Given the description of an element on the screen output the (x, y) to click on. 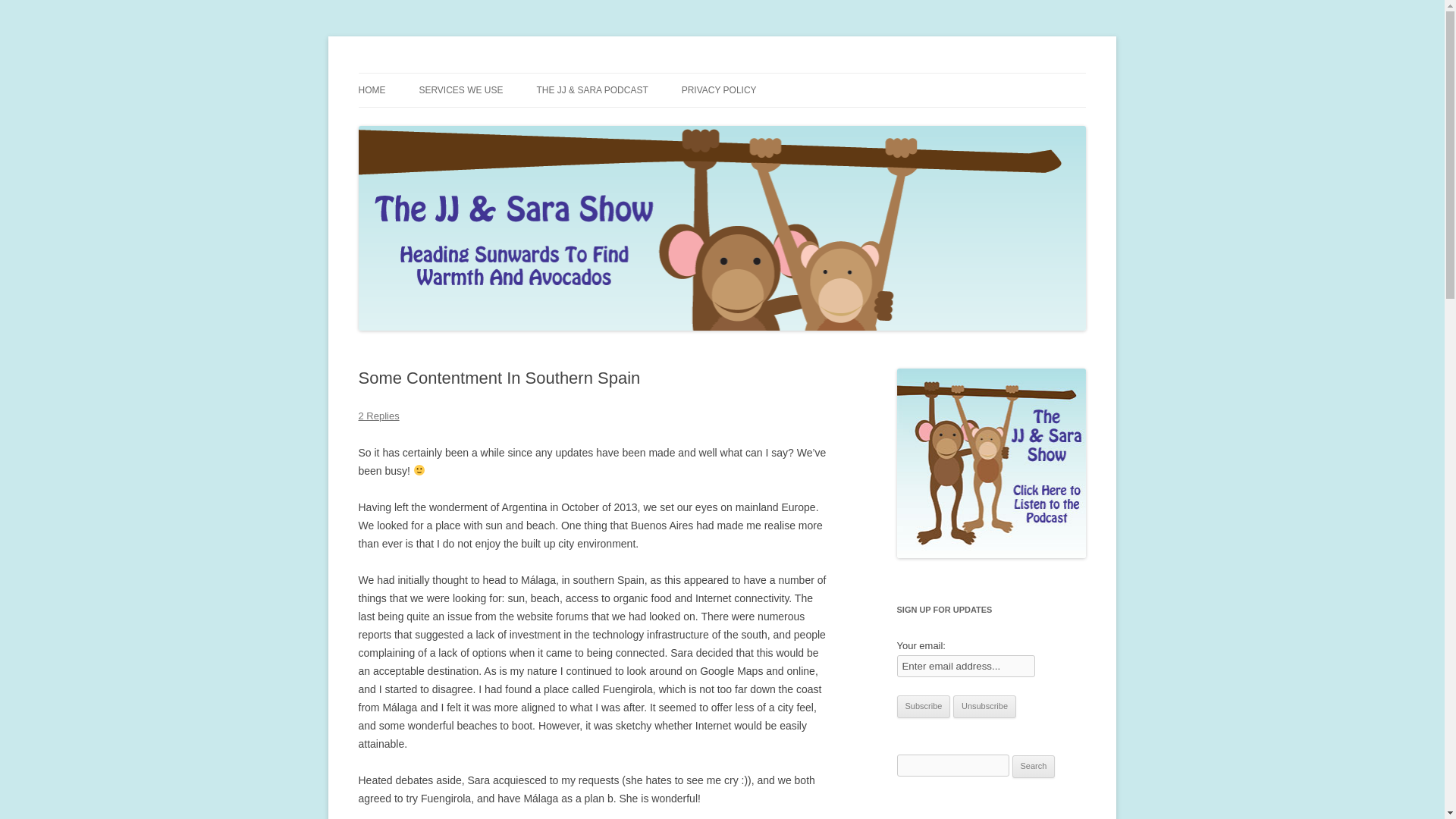
PRIVACY POLICY (719, 90)
Skip to content (757, 77)
Unsubscribe (984, 706)
Subscribe (923, 706)
Search (1033, 766)
Subscribe (923, 706)
2 Replies (378, 415)
Enter email address... (965, 666)
Skip to content (757, 77)
Search (1033, 766)
SERVICES WE USE (460, 90)
Unsubscribe (984, 706)
